Given the description of an element on the screen output the (x, y) to click on. 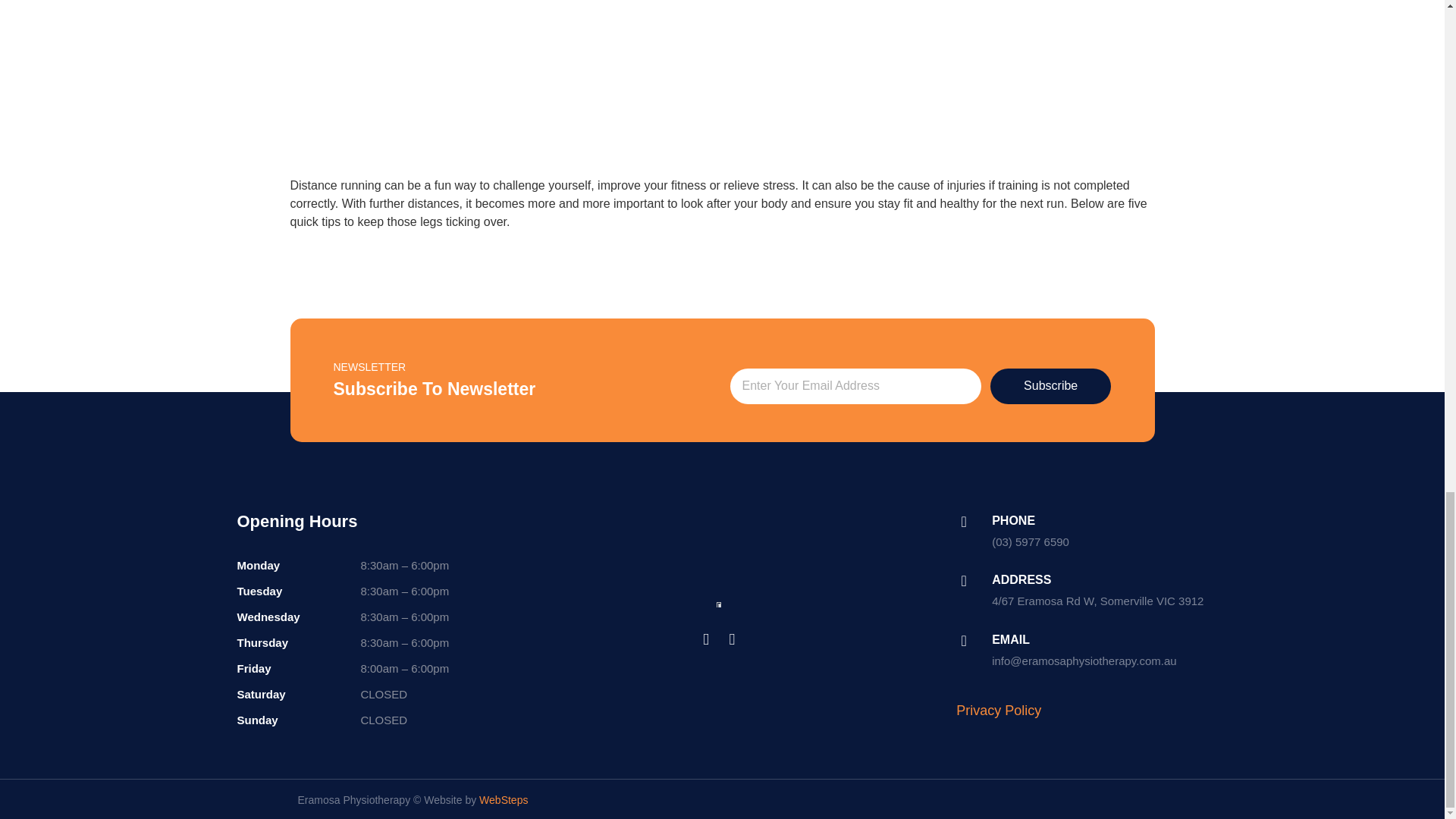
WebSteps (503, 799)
EMAIL (1010, 639)
Privacy Policy (998, 710)
Subscribe (1051, 386)
ADDRESS (1021, 579)
PHONE (1013, 520)
